Given the description of an element on the screen output the (x, y) to click on. 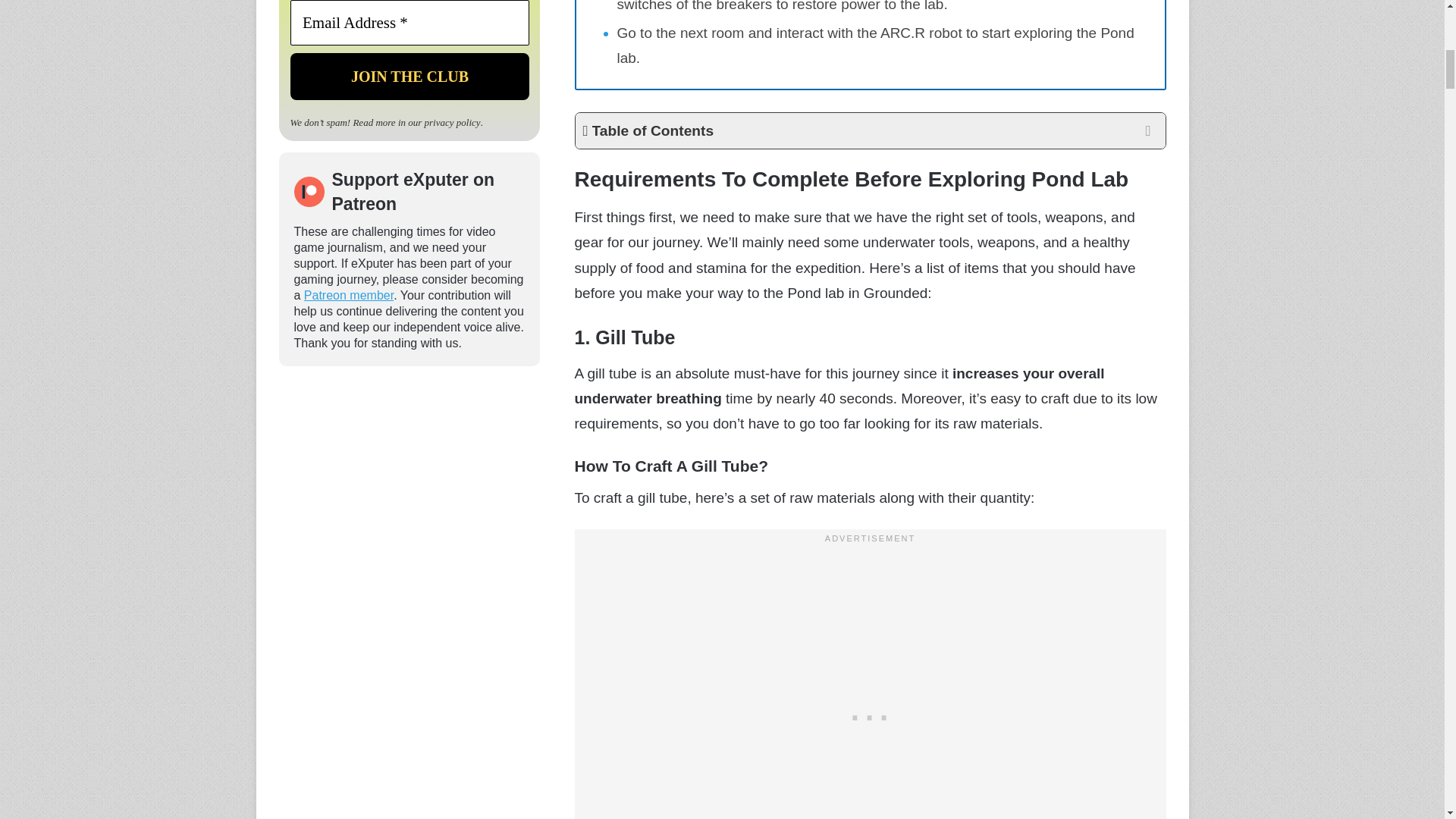
JOIN THE  CLUB (408, 76)
Email Address (408, 22)
